Given the description of an element on the screen output the (x, y) to click on. 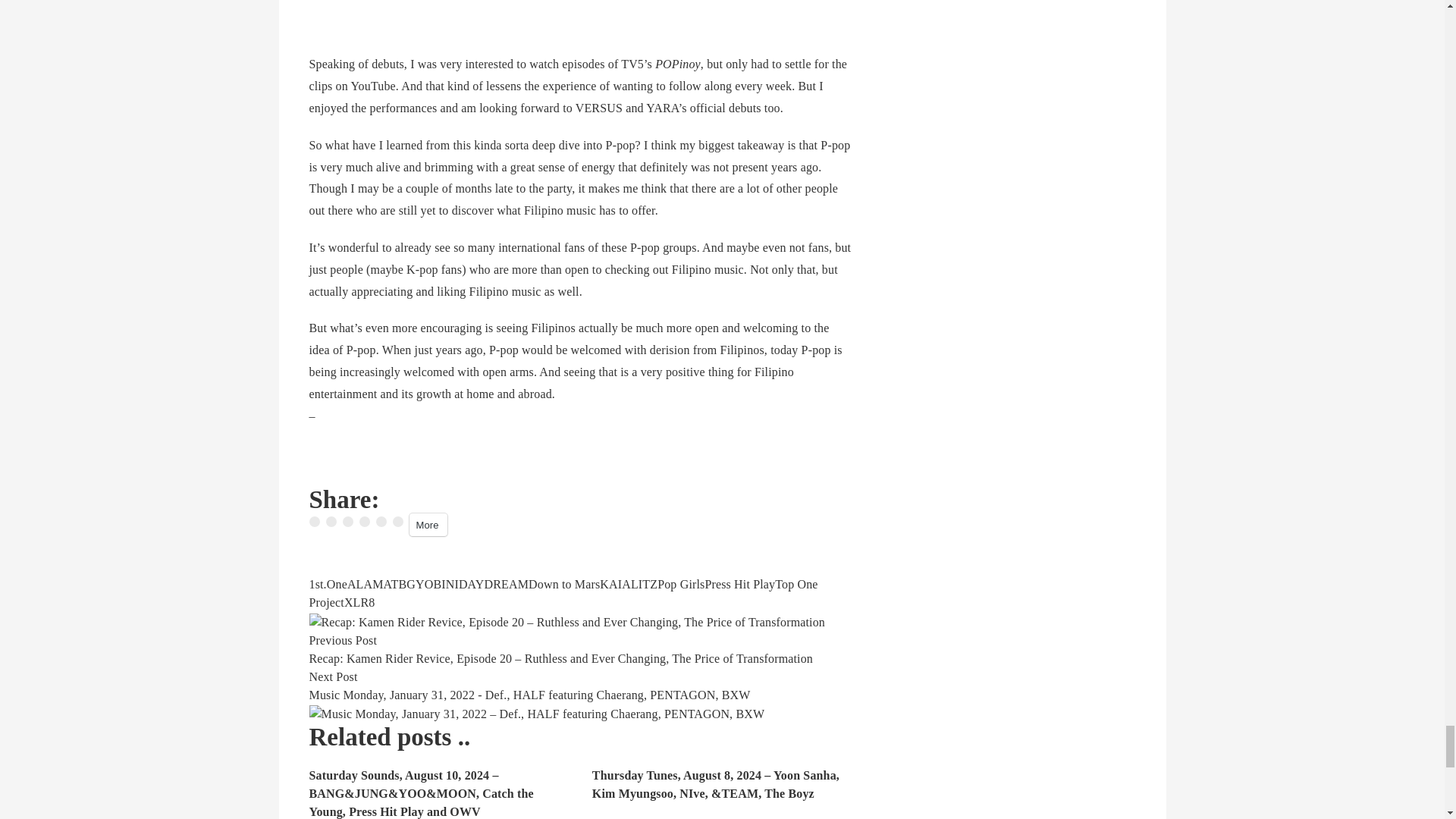
Click to share on Facebook (314, 521)
Click to share on Pinterest (381, 521)
Click to share on Tumblr (347, 521)
Click to share on Reddit (364, 521)
Click to email a link to a friend (398, 521)
Click to share on Twitter (331, 521)
